Given the description of an element on the screen output the (x, y) to click on. 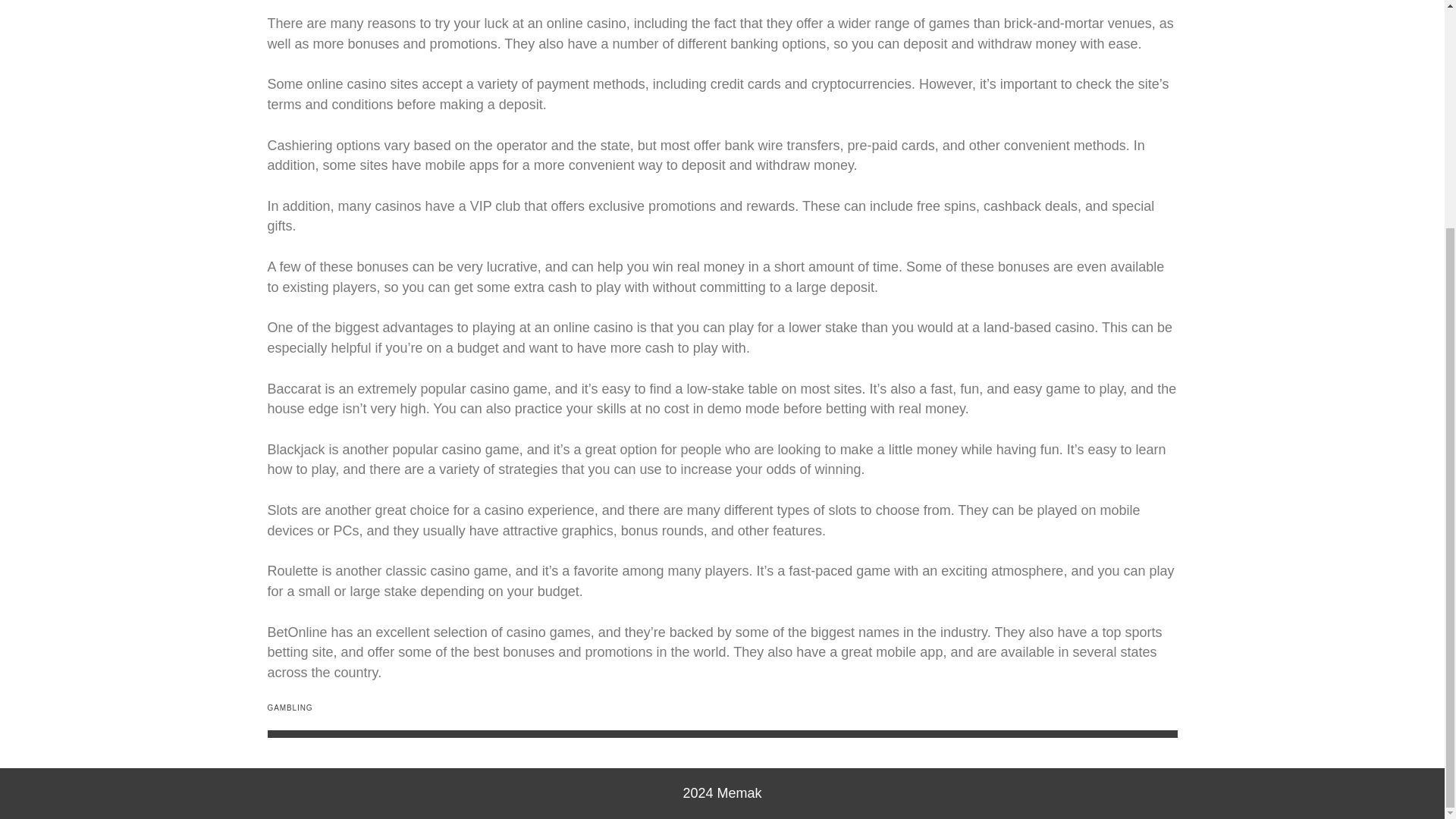
GAMBLING (289, 707)
